Given the description of an element on the screen output the (x, y) to click on. 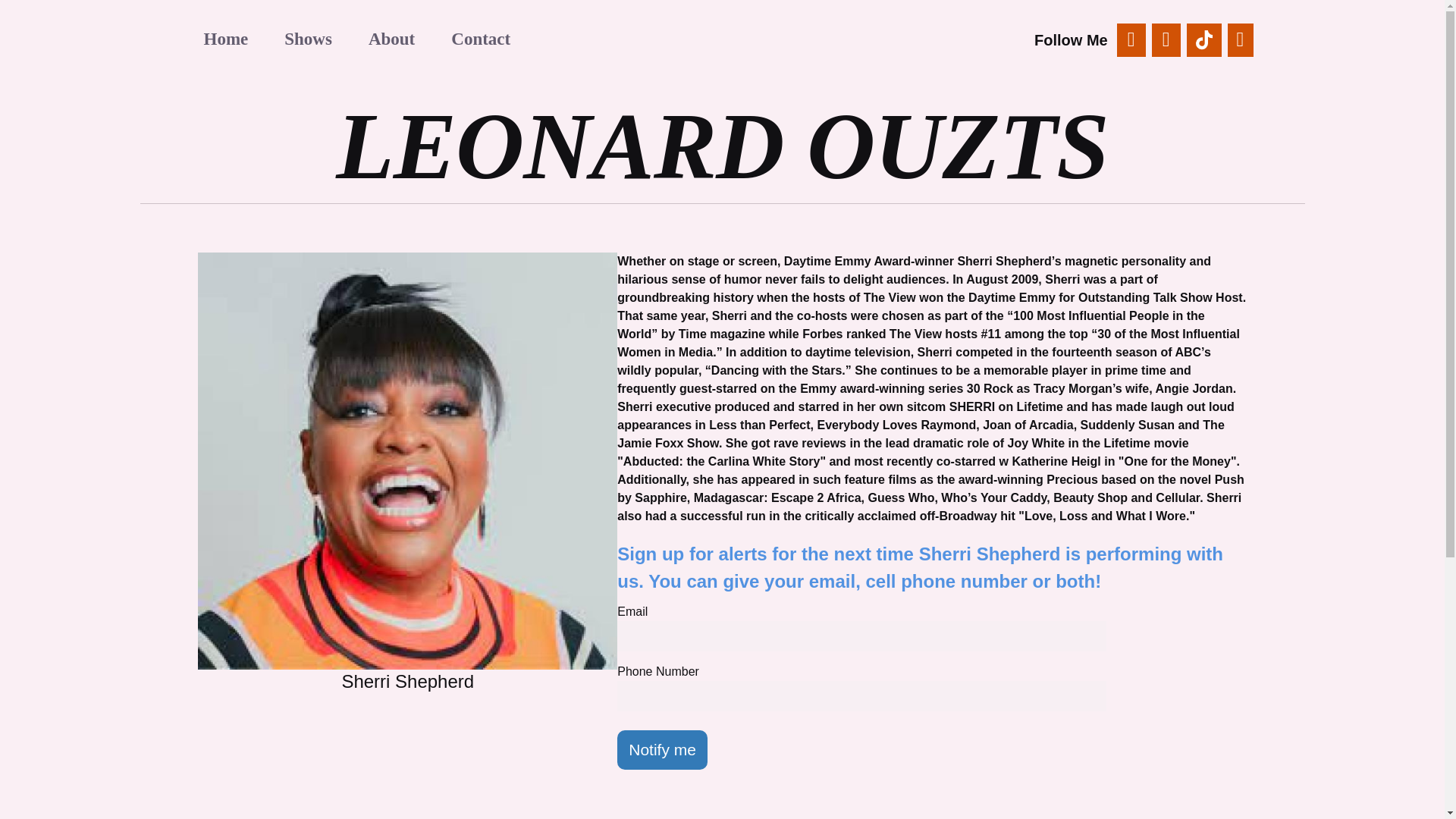
Notify me (662, 749)
About (391, 38)
Shows (307, 38)
Contact (481, 38)
Home (225, 38)
LEONARD OUZTS (722, 146)
